Given the description of an element on the screen output the (x, y) to click on. 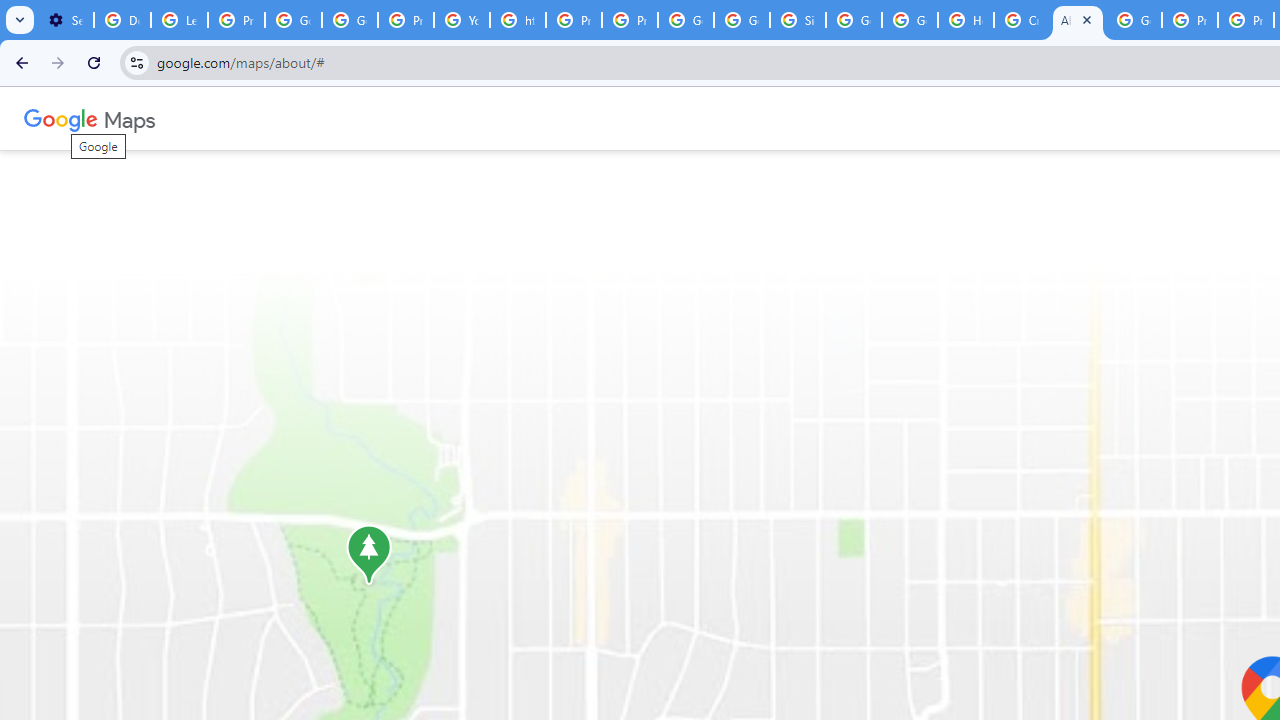
Settings - Performance (65, 20)
Google Account Help (293, 20)
Google (61, 118)
Back (19, 62)
https://scholar.google.com/ (518, 20)
Google Account Help (349, 20)
YouTube (461, 20)
Search tabs (20, 20)
